Given the description of an element on the screen output the (x, y) to click on. 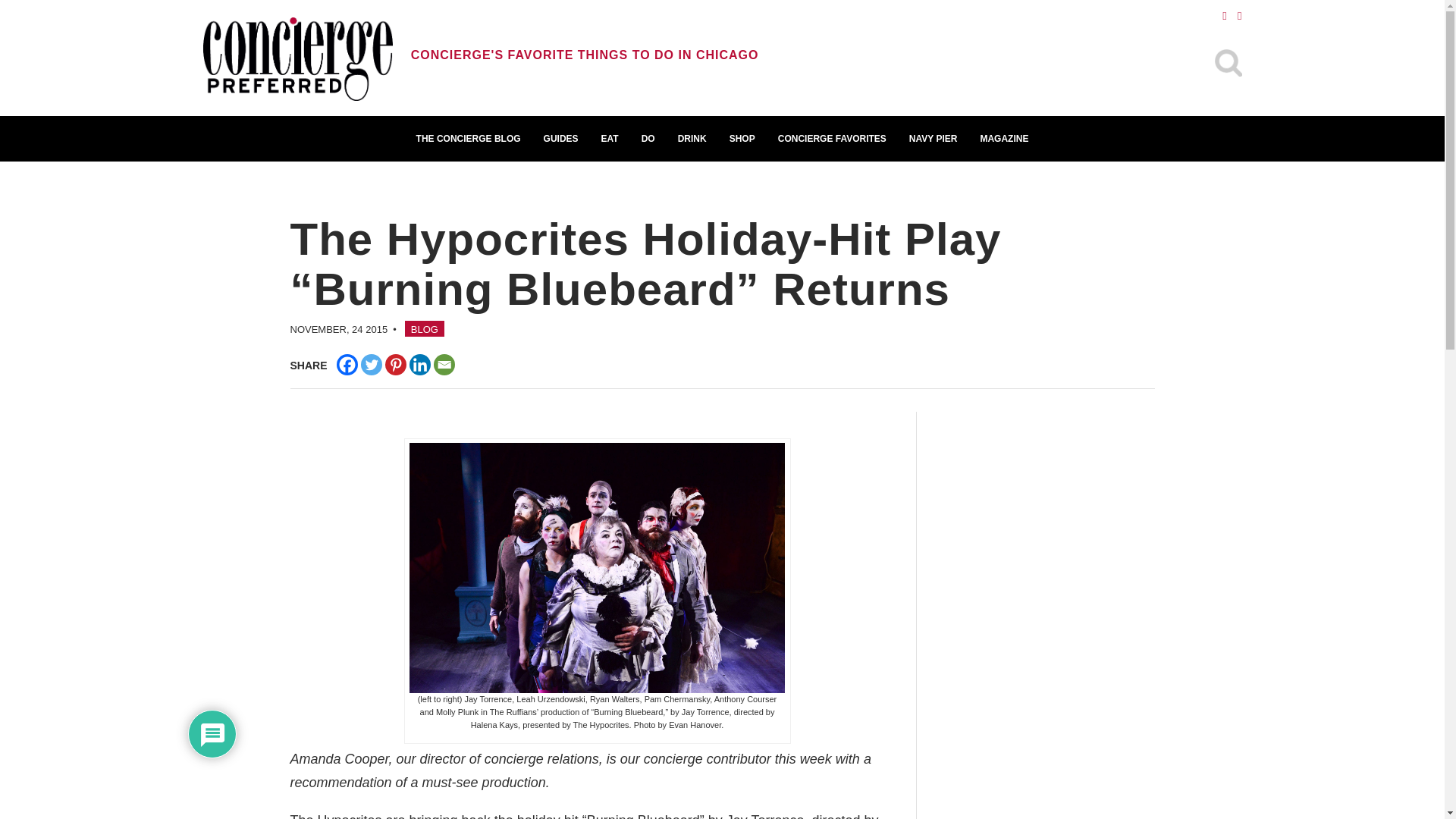
SHOP (742, 137)
THE CONCIERGE BLOG (468, 137)
Facebook (347, 364)
GUIDES (560, 137)
DRINK (691, 137)
Twitter (371, 364)
BLOG (424, 327)
Concierge Preferred (298, 60)
NAVY PIER (933, 137)
CONCIERGE FAVORITES (832, 137)
MAGAZINE (1003, 137)
